Given the description of an element on the screen output the (x, y) to click on. 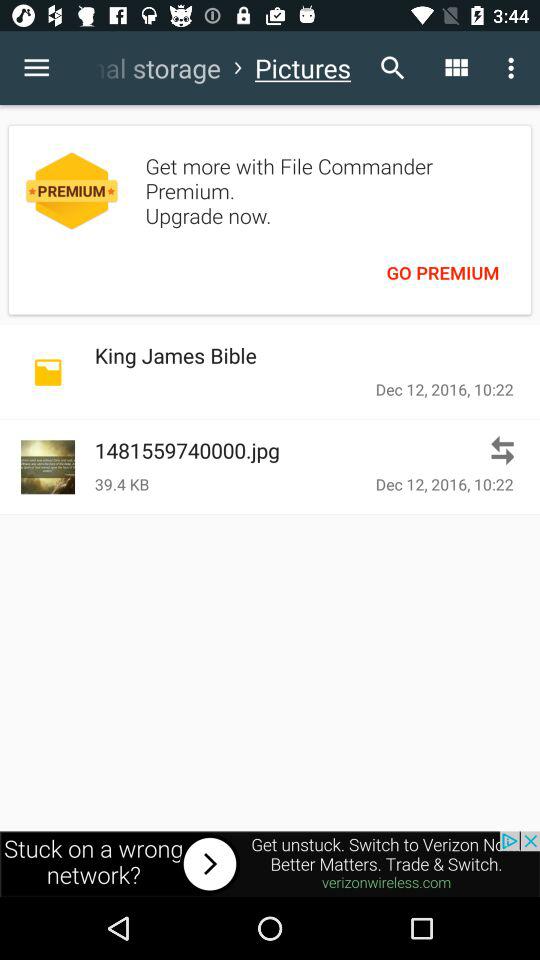
view advertisement (270, 864)
